Given the description of an element on the screen output the (x, y) to click on. 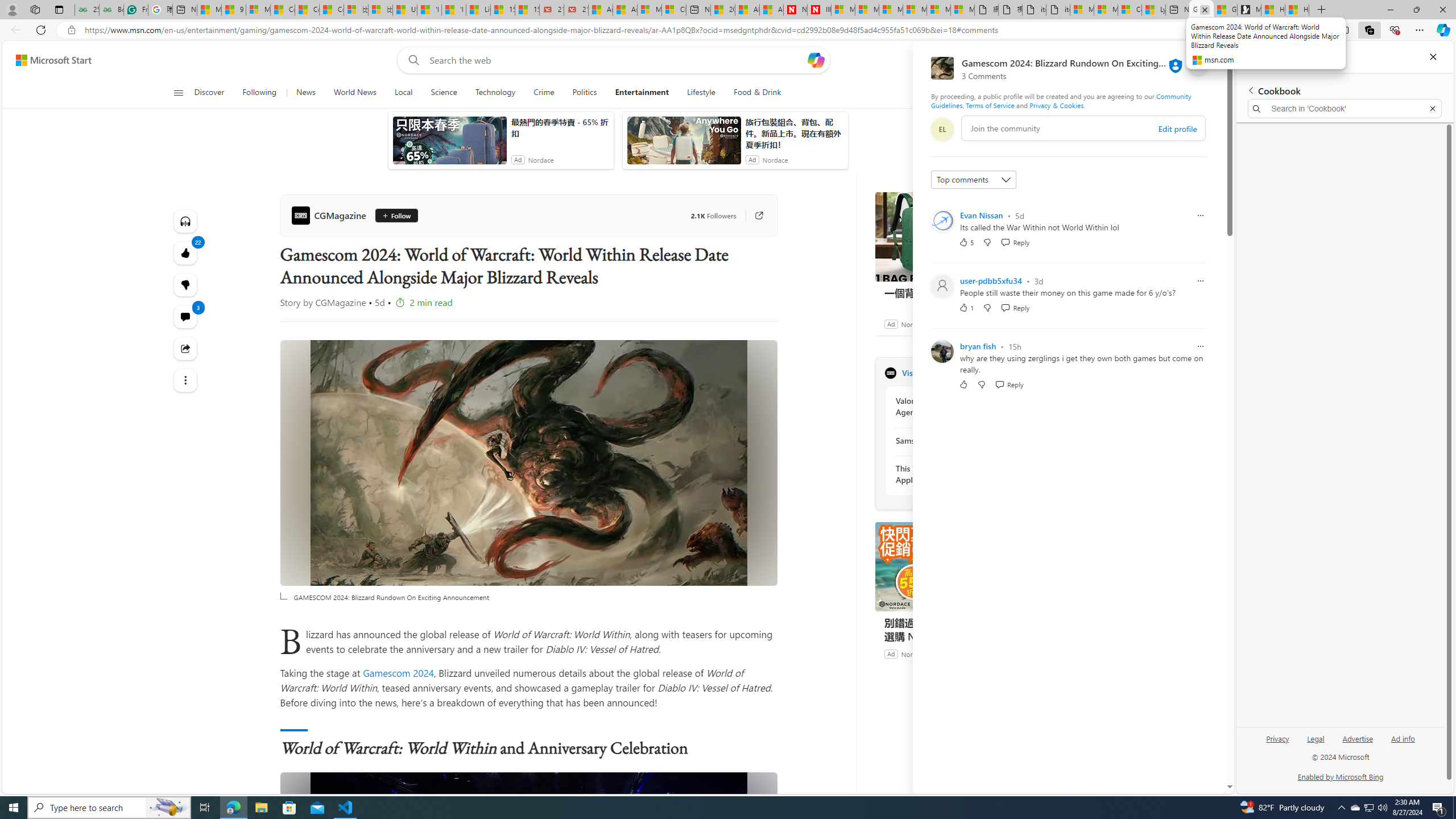
Search in 'Cookbook' (1345, 108)
Profile Picture (941, 350)
22 Like (184, 252)
